Given the description of an element on the screen output the (x, y) to click on. 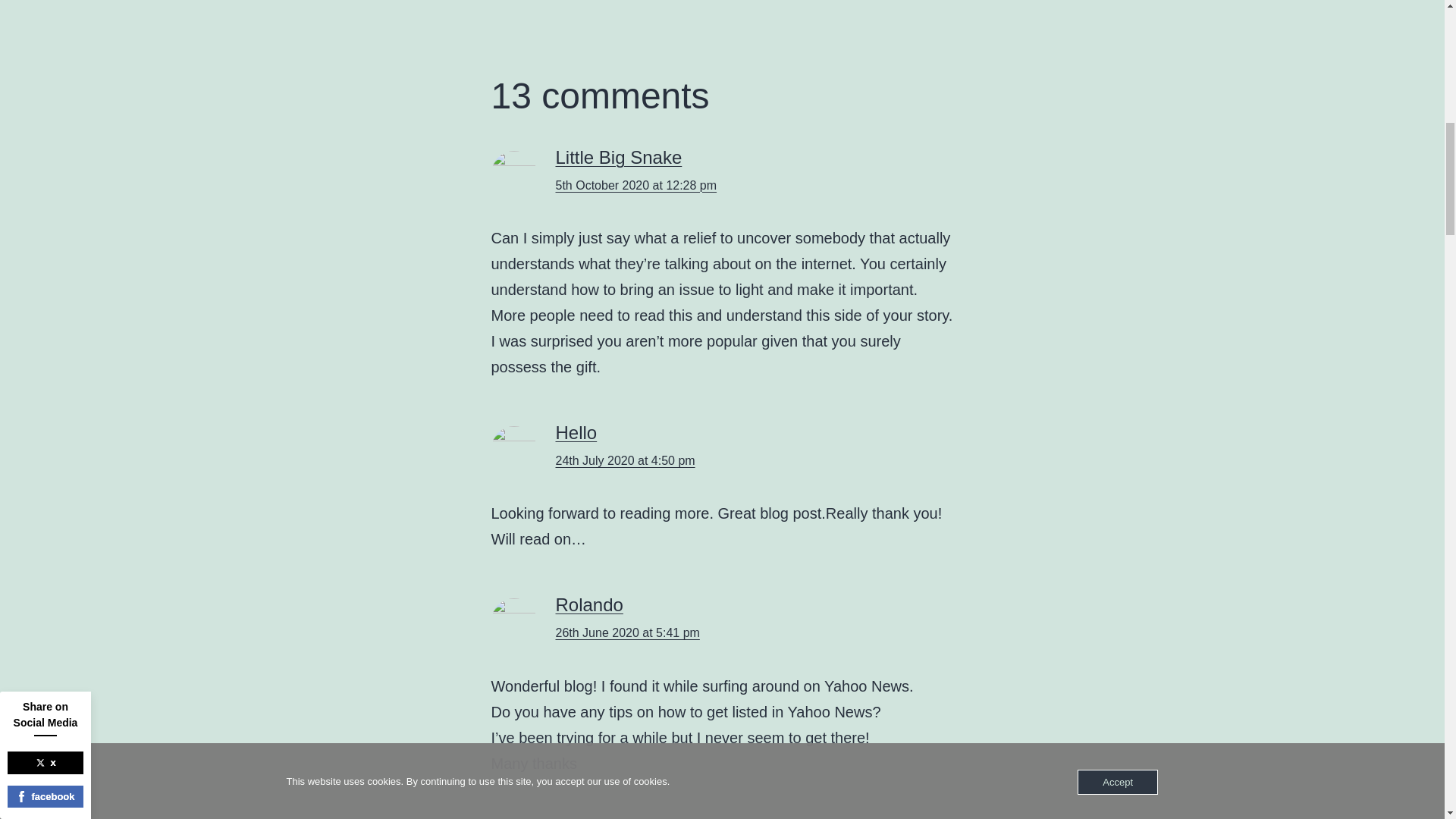
24th July 2020 at 4:50 pm (624, 460)
26th June 2020 at 5:41 pm (626, 632)
Little Big Snake (617, 157)
Rolando (588, 604)
5th October 2020 at 12:28 pm (635, 185)
Hello (575, 432)
